Given the description of an element on the screen output the (x, y) to click on. 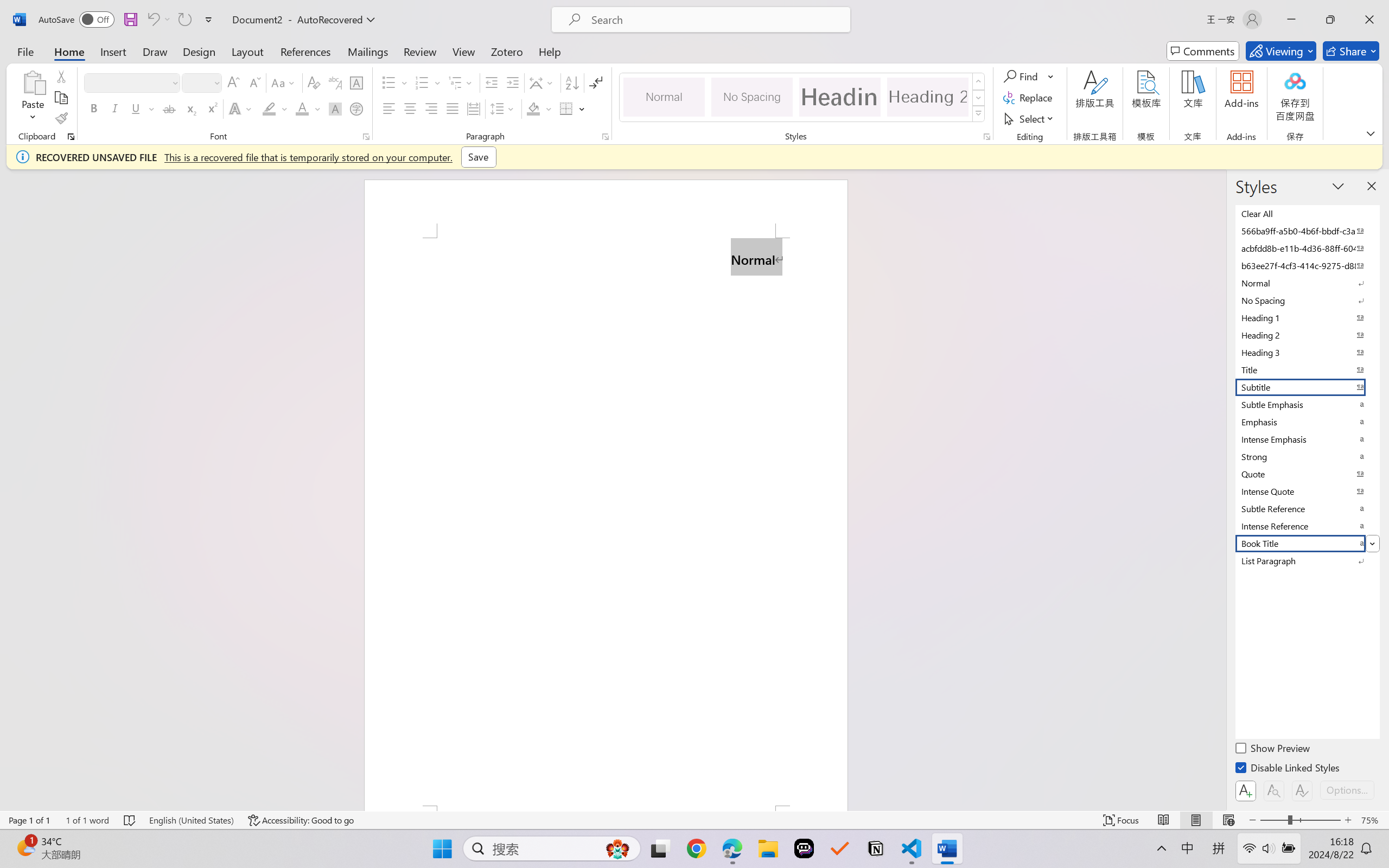
Subscript (190, 108)
Superscript (210, 108)
Mode (1280, 50)
Copy (60, 97)
Intense Reference (1306, 525)
566ba9ff-a5b0-4b6f-bbdf-c3ab41993fc2 (1306, 230)
Task Pane Options (1338, 185)
Character Border (356, 82)
Subtle Reference (1306, 508)
